Given the description of an element on the screen output the (x, y) to click on. 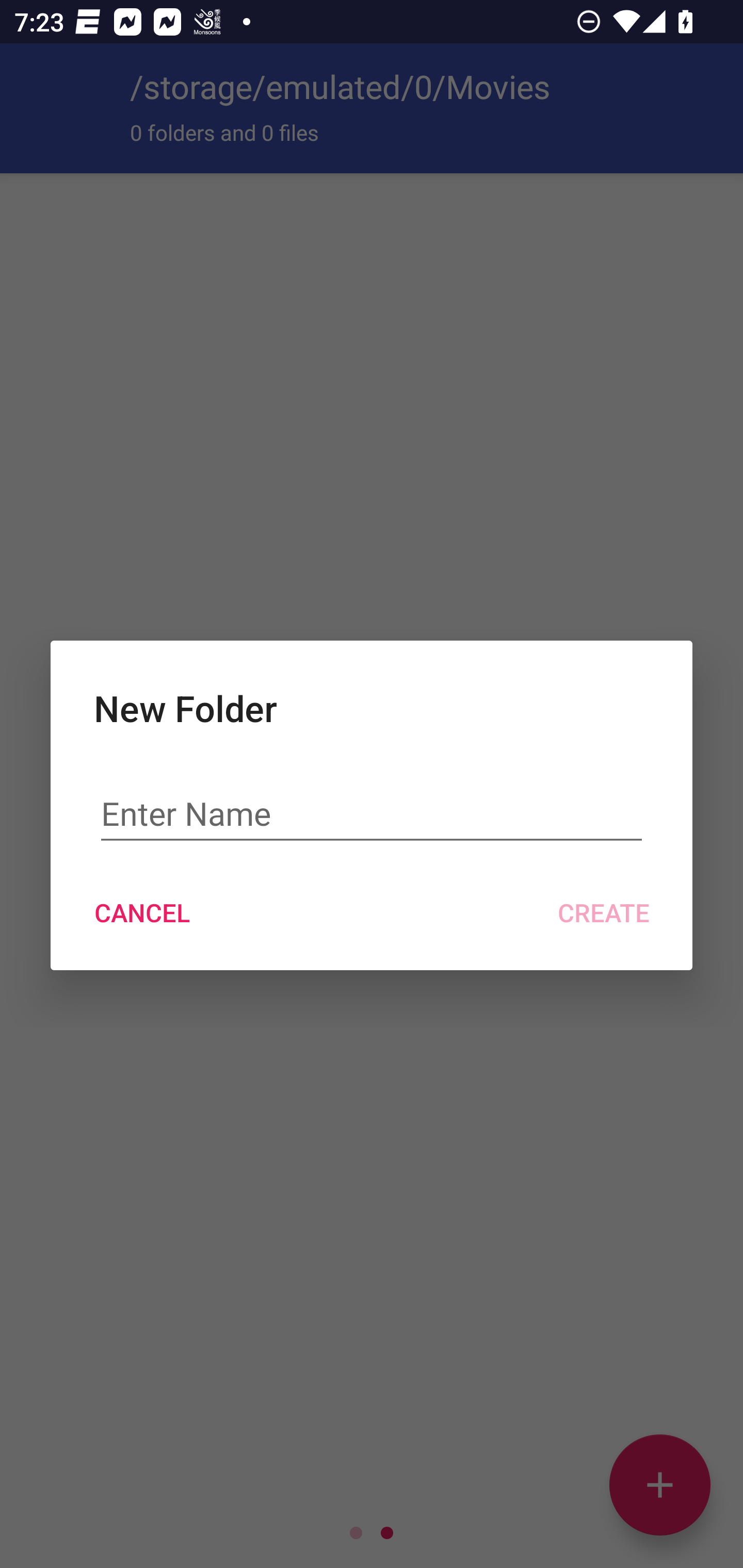
Enter Name (371, 813)
CANCEL (141, 912)
CREATE (602, 912)
